Given the description of an element on the screen output the (x, y) to click on. 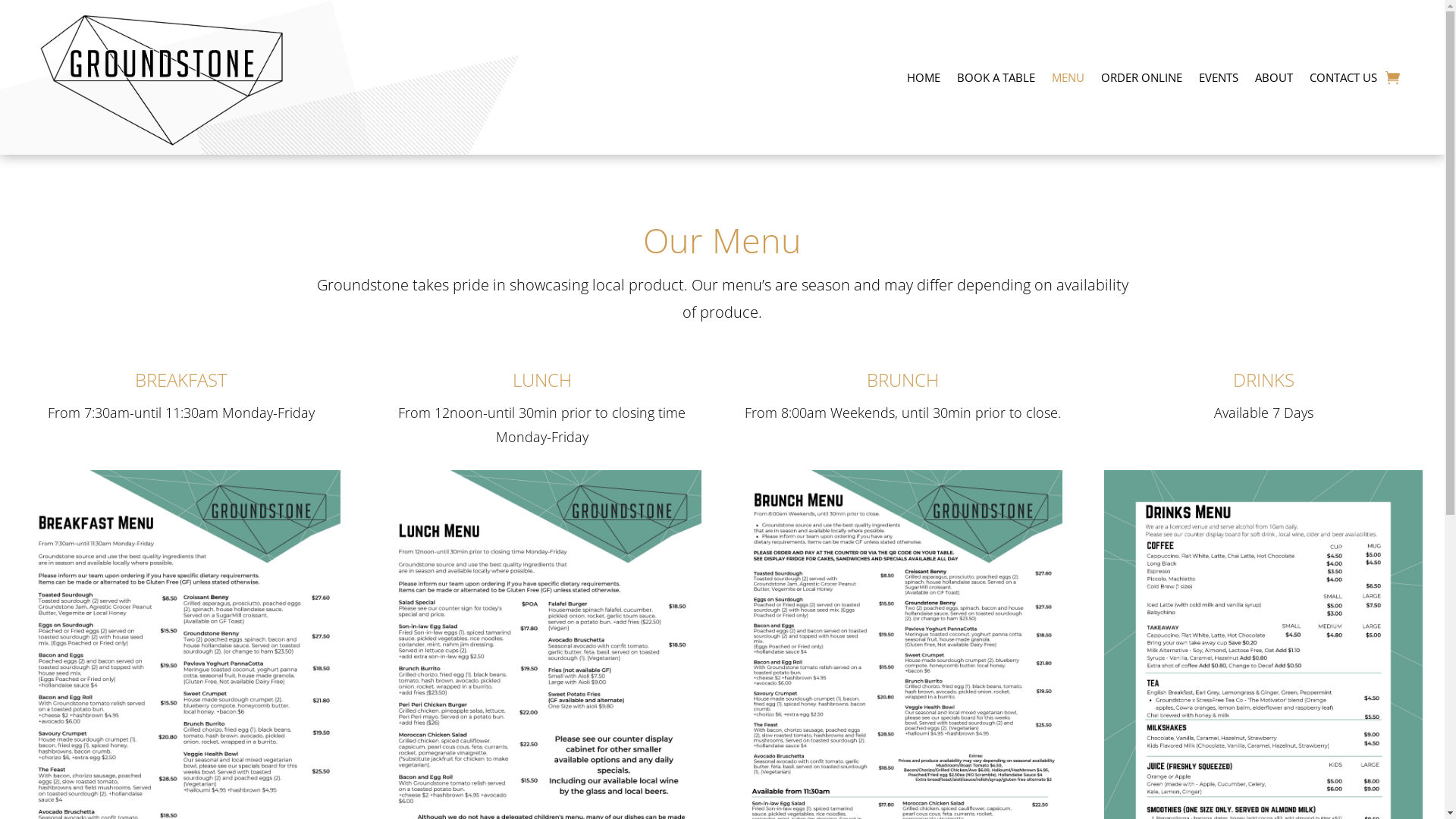
ORDER ONLINE Element type: text (1141, 77)
EVENTS Element type: text (1218, 77)
BOOK A TABLE Element type: text (996, 77)
HOME Element type: text (923, 77)
CONTACT US Element type: text (1343, 77)
MENU Element type: text (1067, 77)
ABOUT Element type: text (1273, 77)
